Given the description of an element on the screen output the (x, y) to click on. 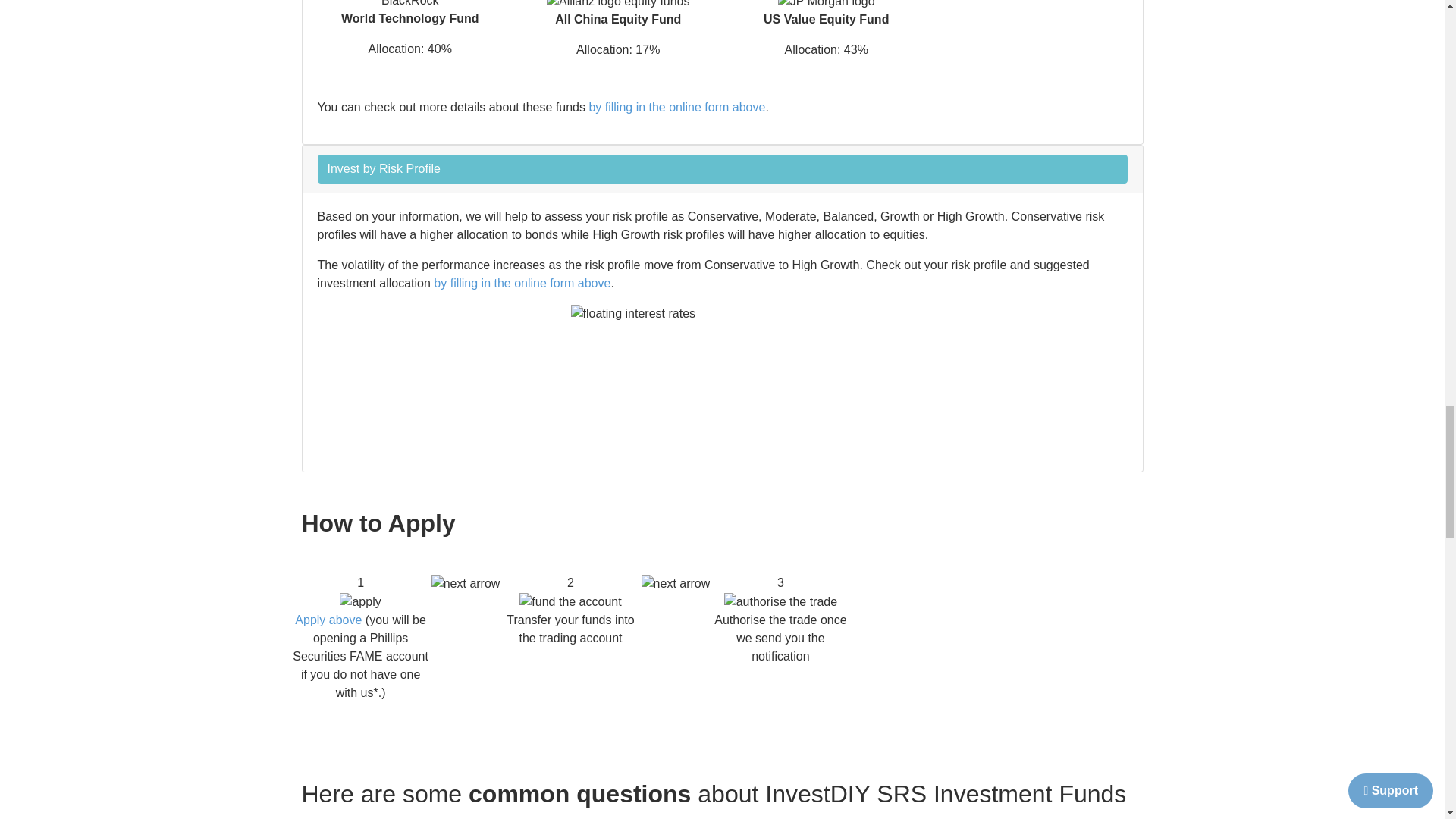
Apply above (328, 619)
by filling in the online form above (521, 282)
by filling in the online form above (676, 106)
Invest by Risk Profile (721, 168)
